Given the description of an element on the screen output the (x, y) to click on. 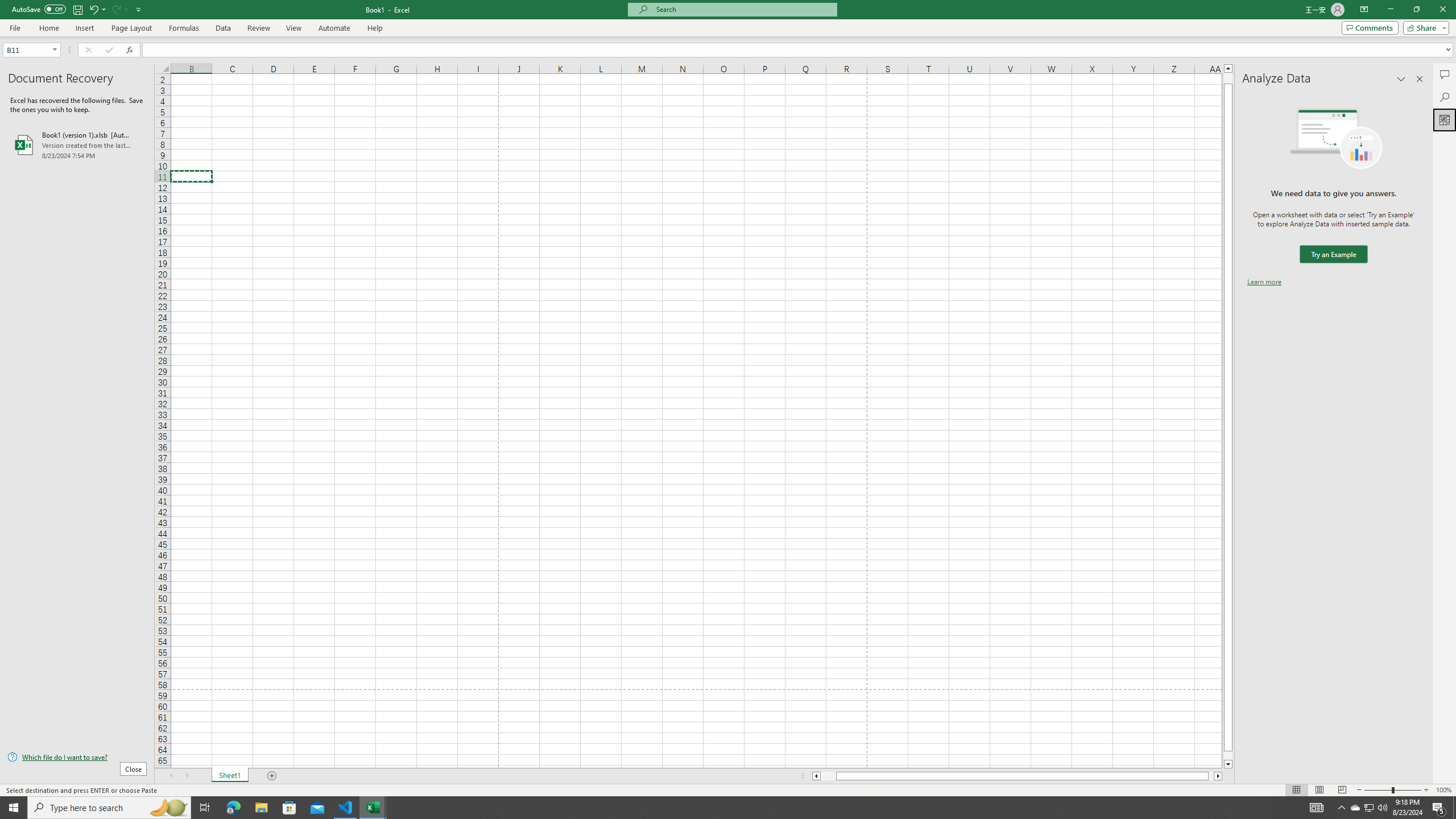
Page left (828, 775)
AutoSave (38, 9)
